Given the description of an element on the screen output the (x, y) to click on. 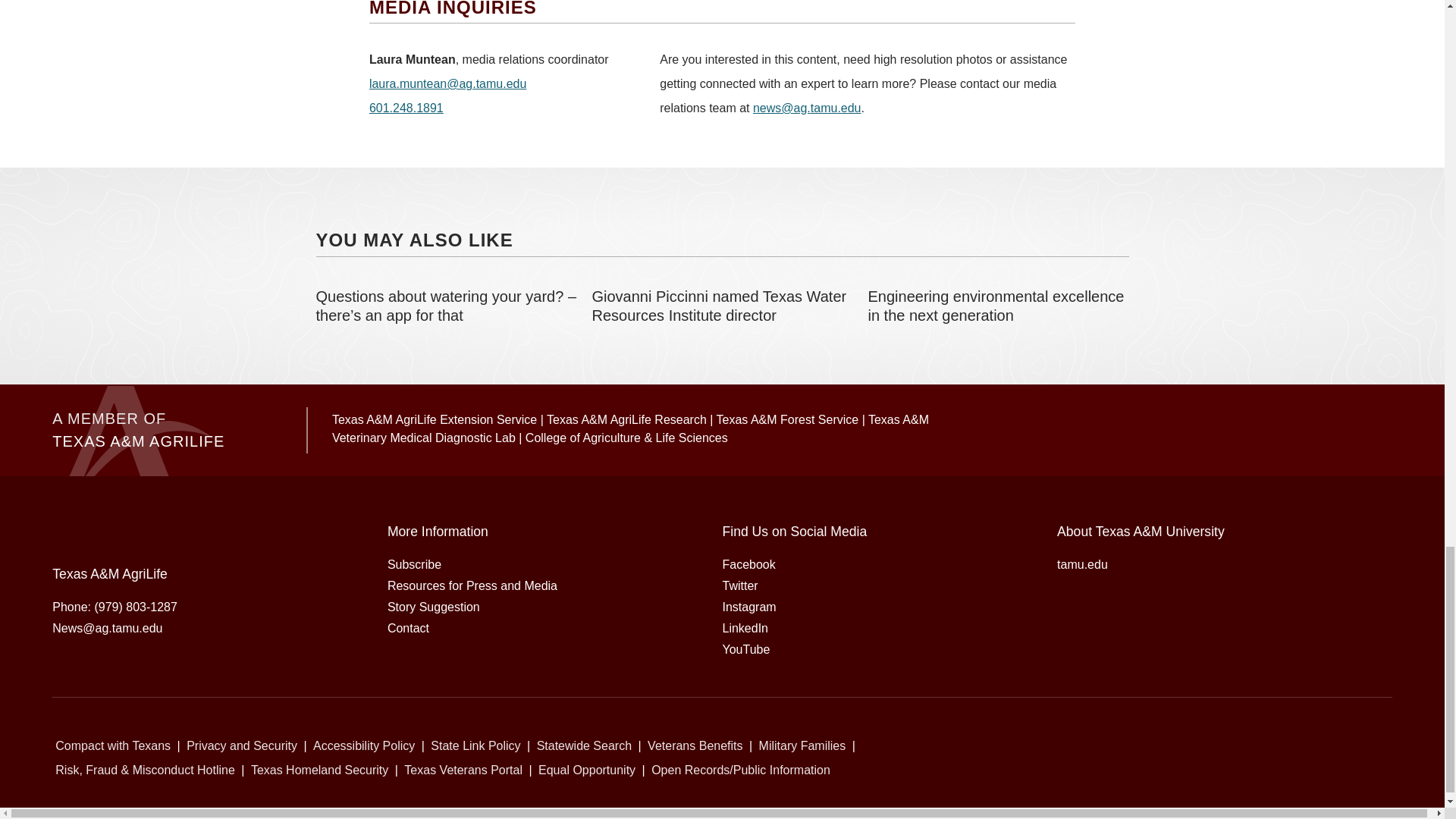
601.248.1891 (406, 107)
